Given the description of an element on the screen output the (x, y) to click on. 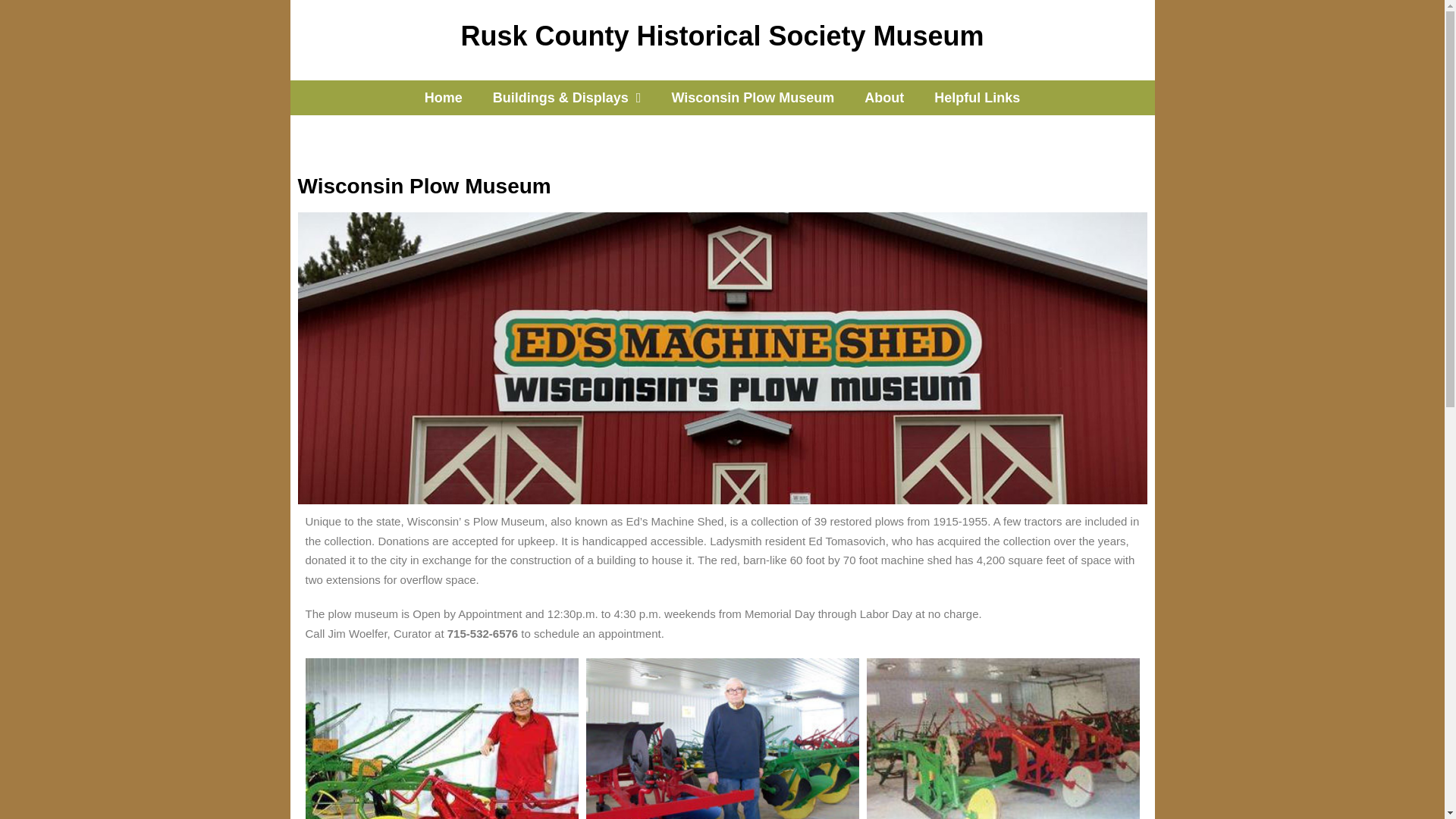
Helpful Links (976, 97)
Rusk County Historical Society Museum (722, 35)
Wisconsin Plow Museum (752, 97)
Home (443, 97)
About (883, 97)
